Given the description of an element on the screen output the (x, y) to click on. 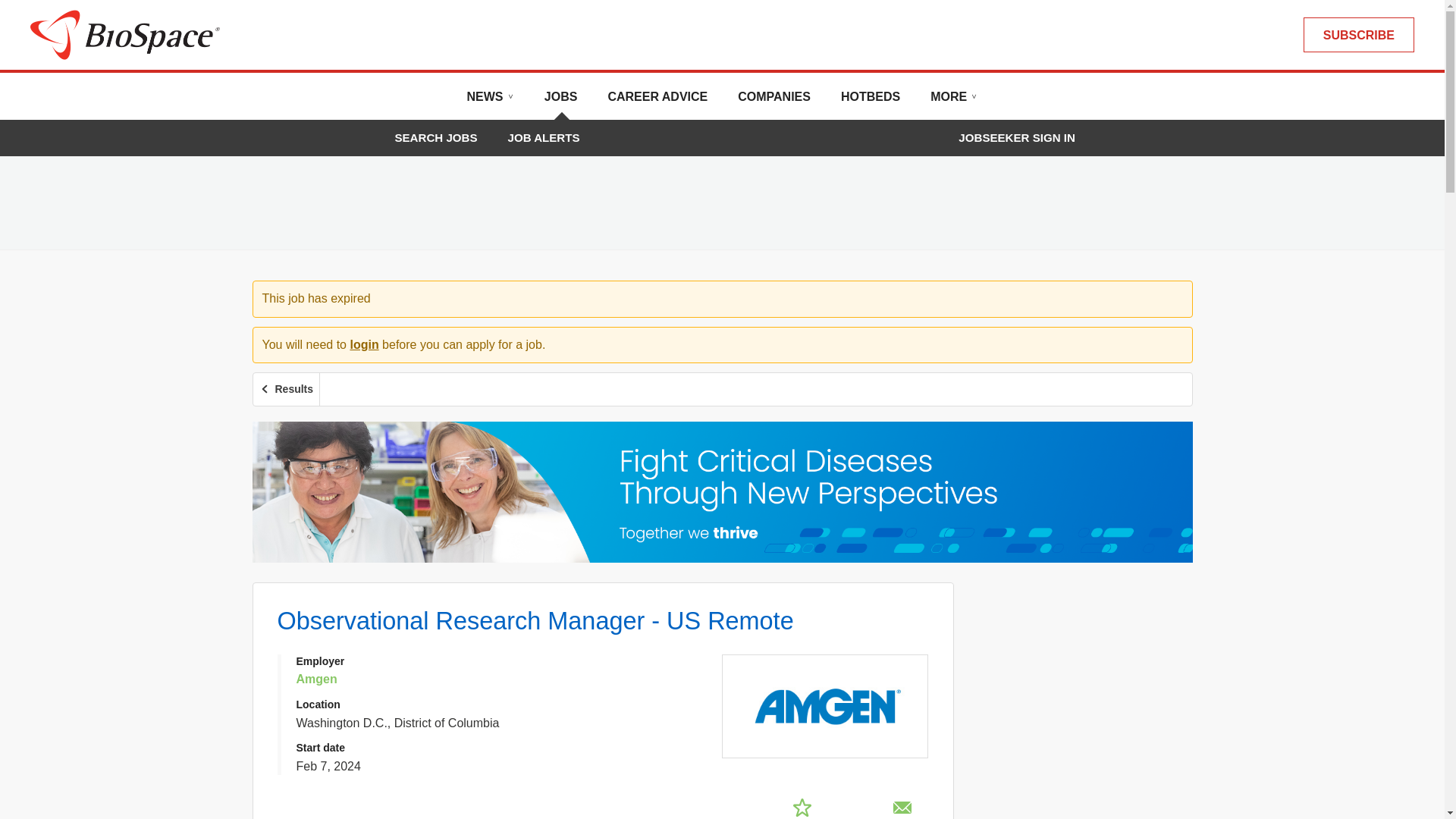
CAREER ADVICE (657, 102)
BioSpace (124, 34)
HOTBEDS (870, 102)
NEWS (490, 102)
MORE (953, 102)
SUBSCRIBE (1358, 34)
JOB ALERTS (543, 137)
COMPANIES (774, 102)
JOBS (561, 102)
SEARCH JOBS (435, 137)
